Given the description of an element on the screen output the (x, y) to click on. 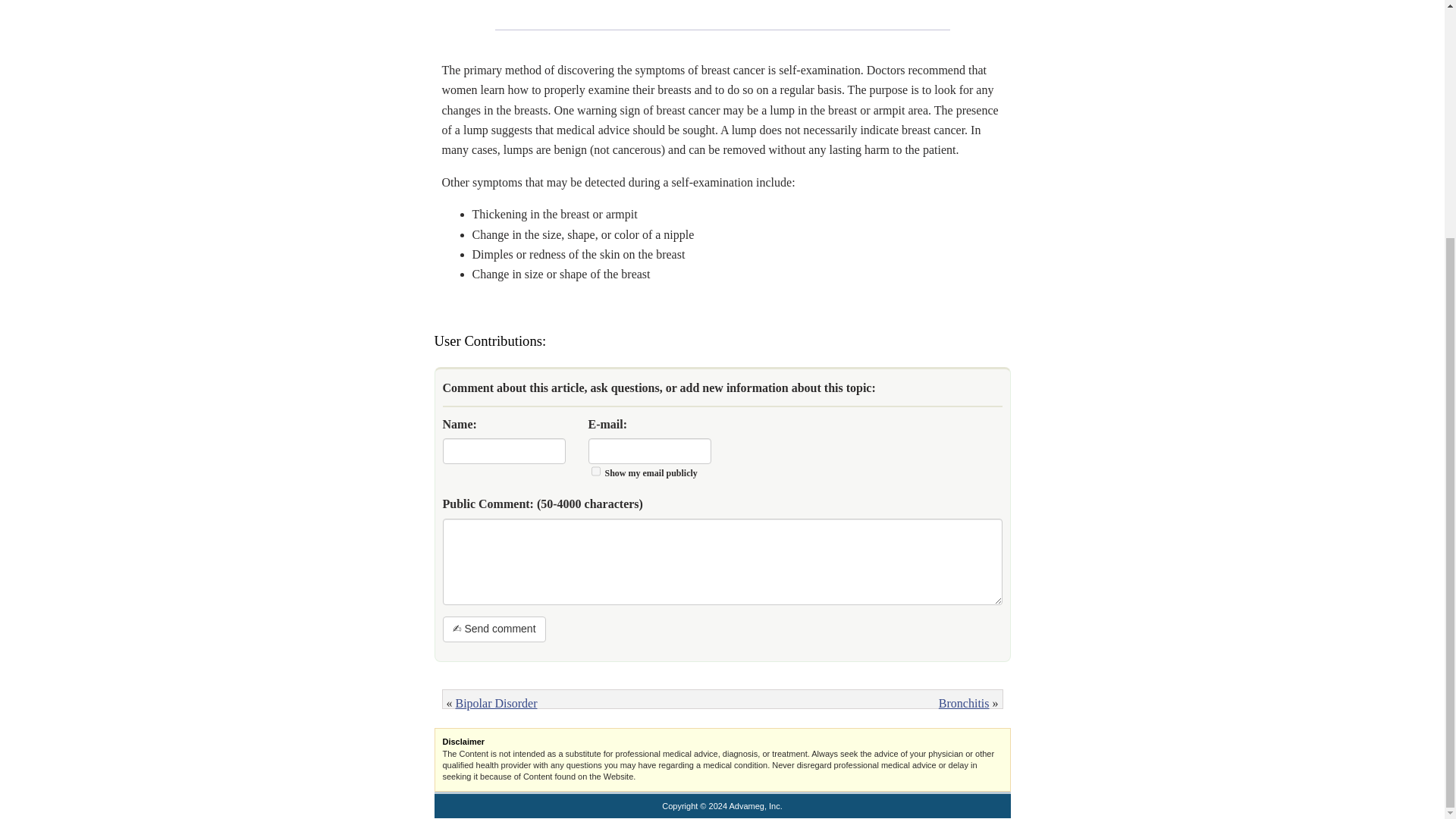
Bronchitis (964, 703)
Bipolar Disorder (495, 703)
1 (595, 470)
